Given the description of an element on the screen output the (x, y) to click on. 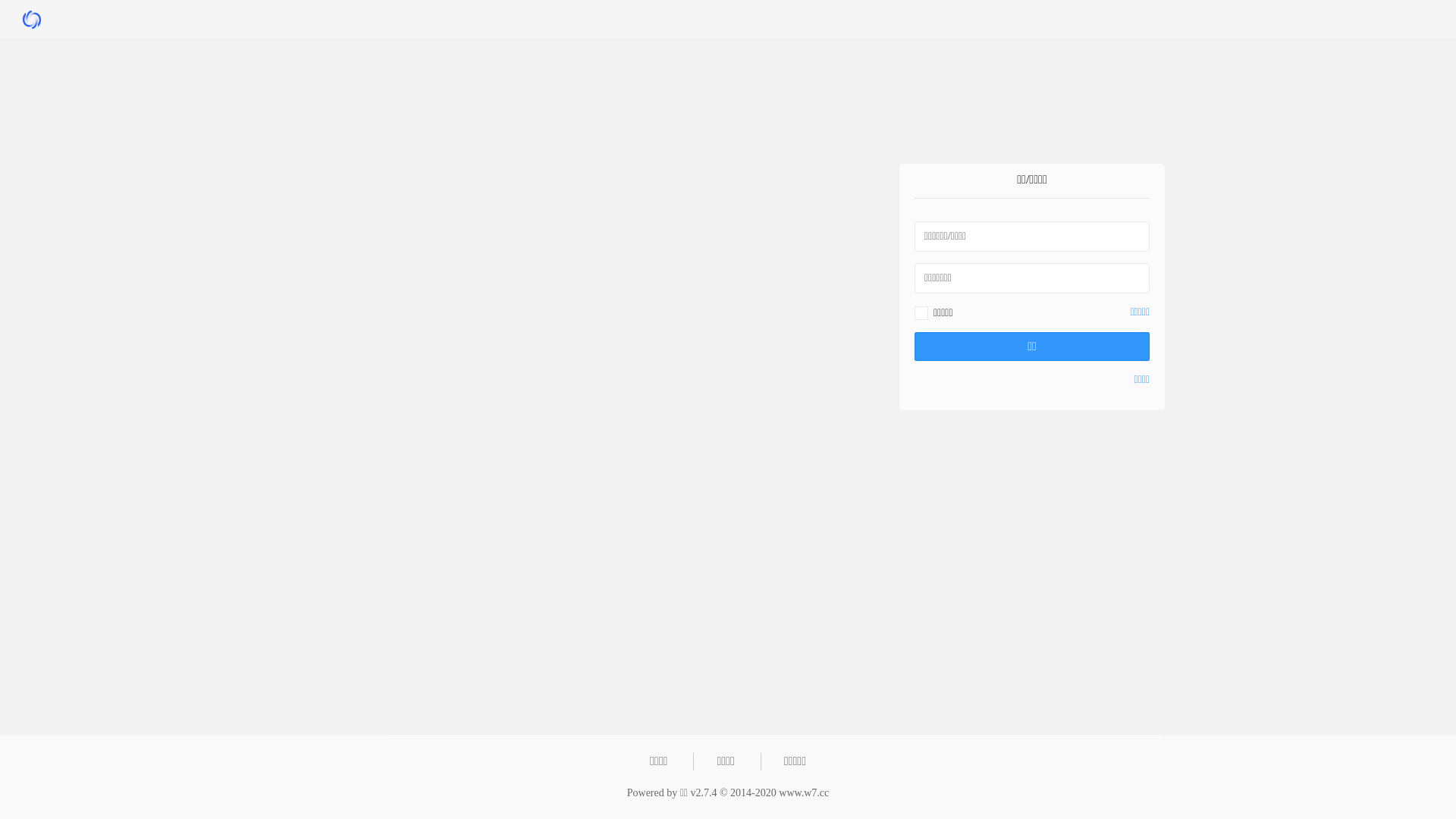
www.w7.cc Element type: text (803, 792)
